Given the description of an element on the screen output the (x, y) to click on. 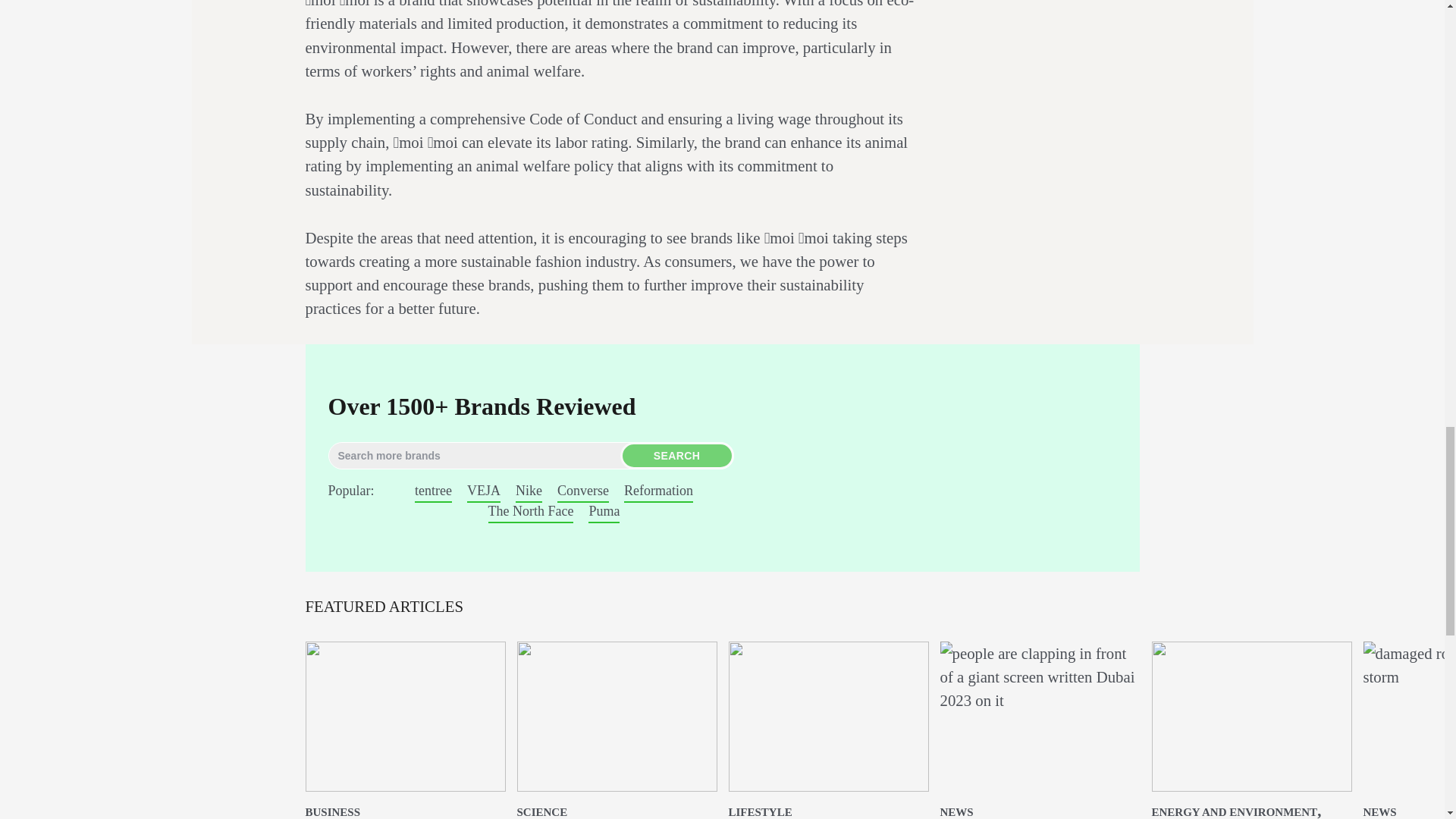
Nike (528, 490)
SEARCH (676, 455)
tentree (432, 490)
Converse (582, 490)
SEARCH (676, 455)
The North Face (530, 511)
SEARCH (676, 455)
VEJA (483, 490)
Puma (604, 511)
Reformation (658, 490)
